Given the description of an element on the screen output the (x, y) to click on. 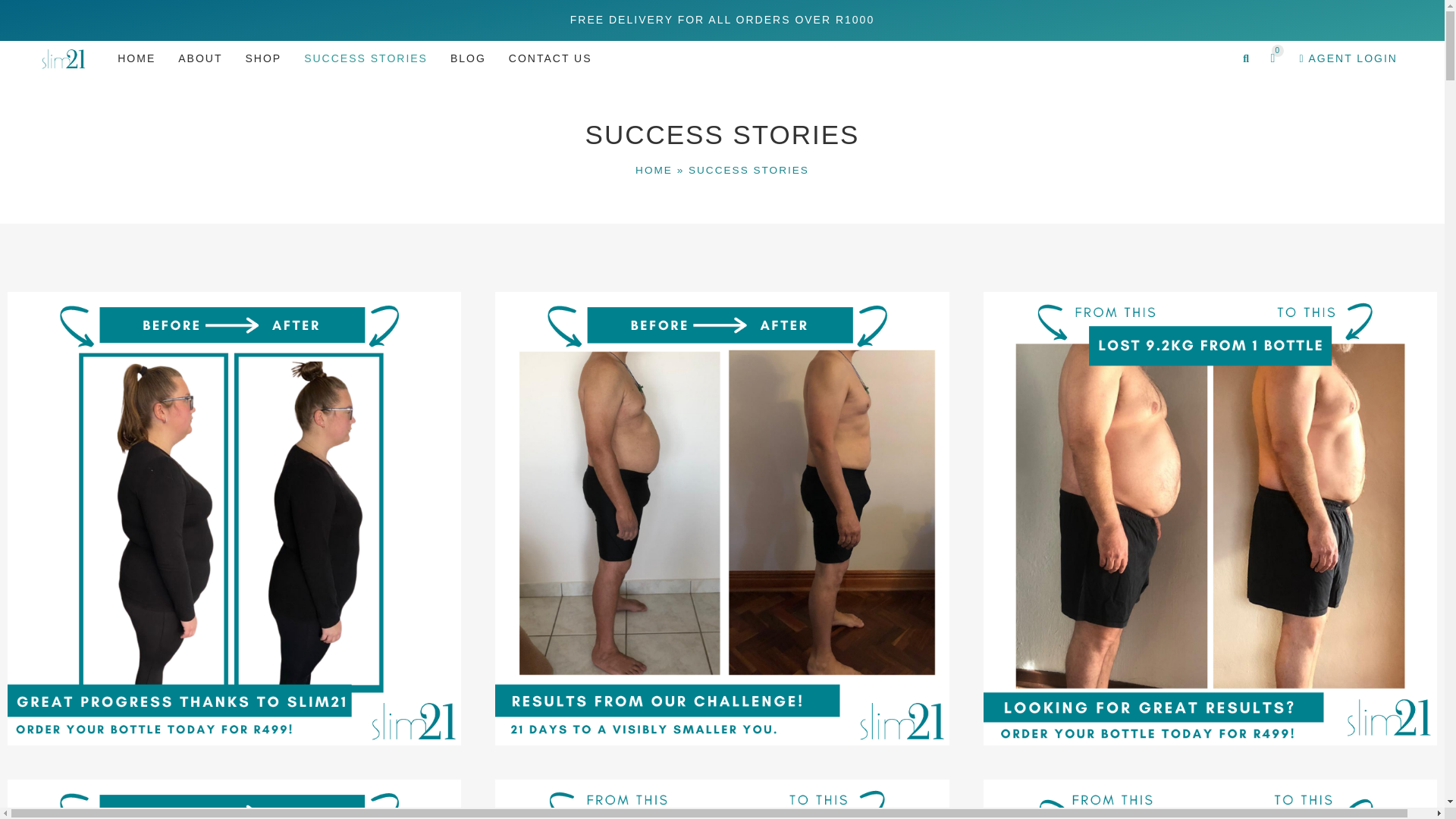
CONTACT US (550, 58)
AGENT LOGIN (1347, 58)
HOME (136, 58)
BLOG (468, 58)
HOME (653, 170)
SHOP (262, 58)
SUCCESS STORIES (365, 58)
0 (1279, 58)
ABOUT (199, 58)
